Given the description of an element on the screen output the (x, y) to click on. 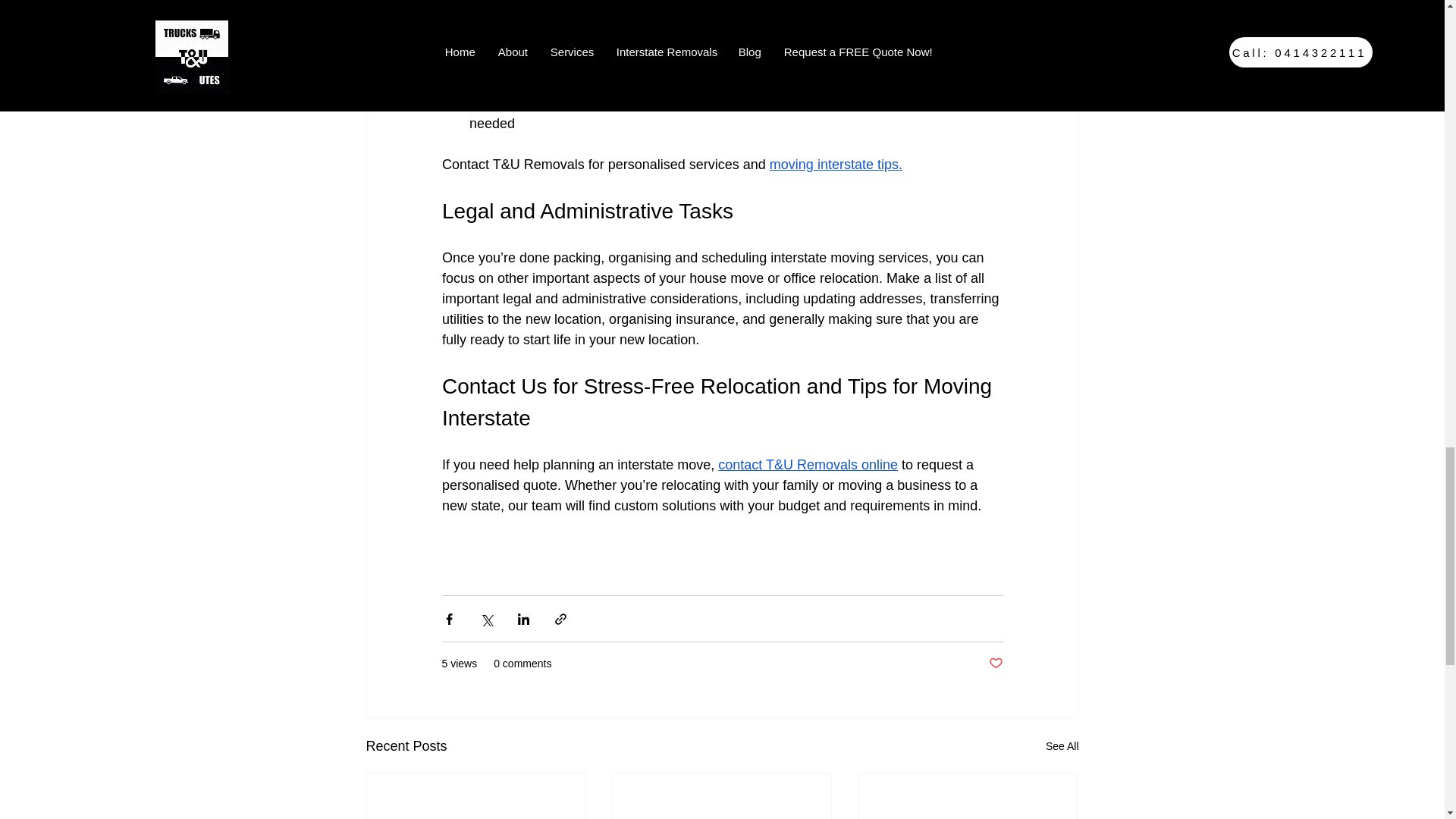
moving interstate tips (833, 164)
See All (1061, 746)
Post not marked as liked (995, 663)
